Given the description of an element on the screen output the (x, y) to click on. 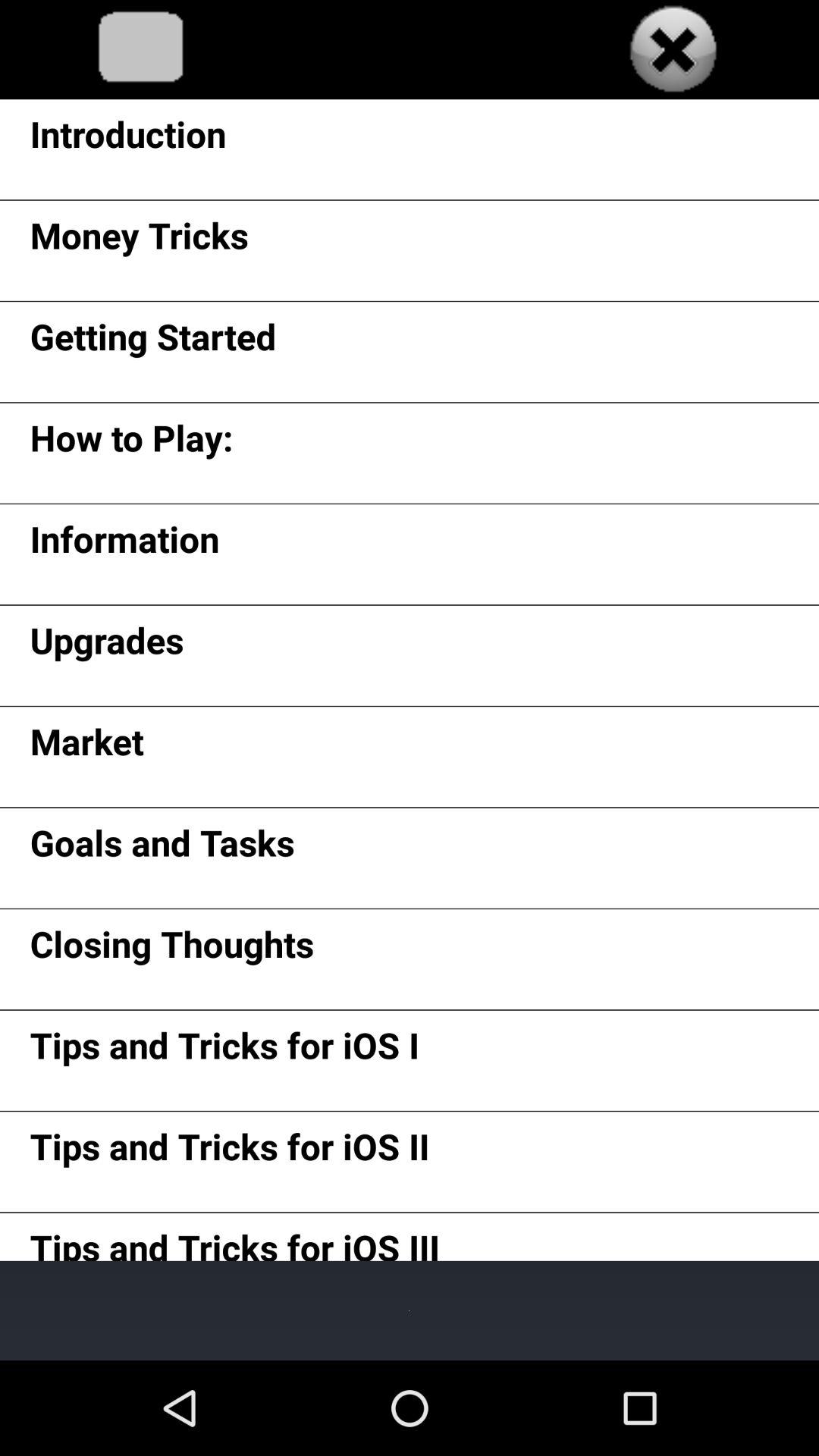
flip until the market icon (86, 746)
